Given the description of an element on the screen output the (x, y) to click on. 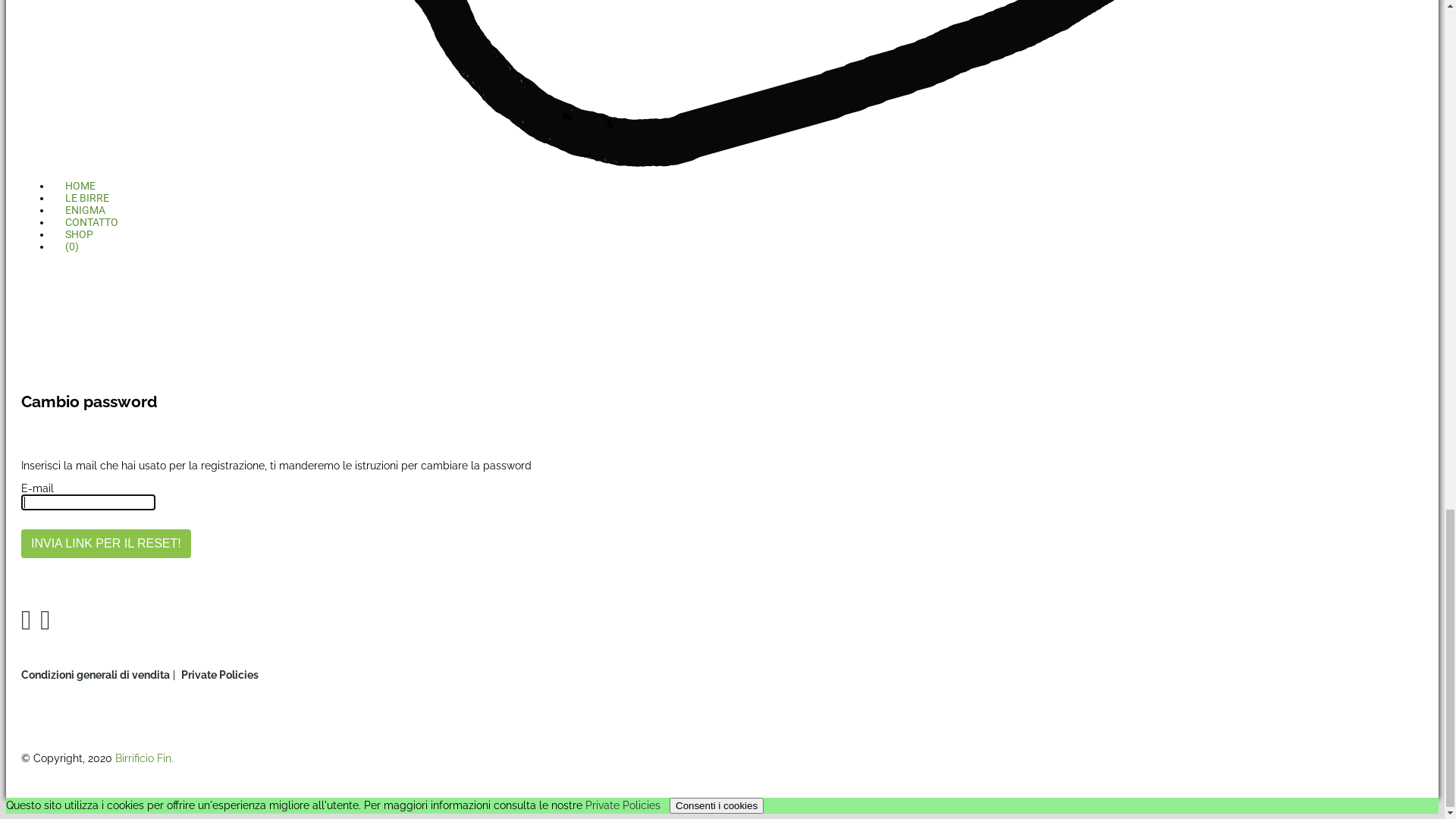
Toggle navigation Element type: text (66, 51)
